Given the description of an element on the screen output the (x, y) to click on. 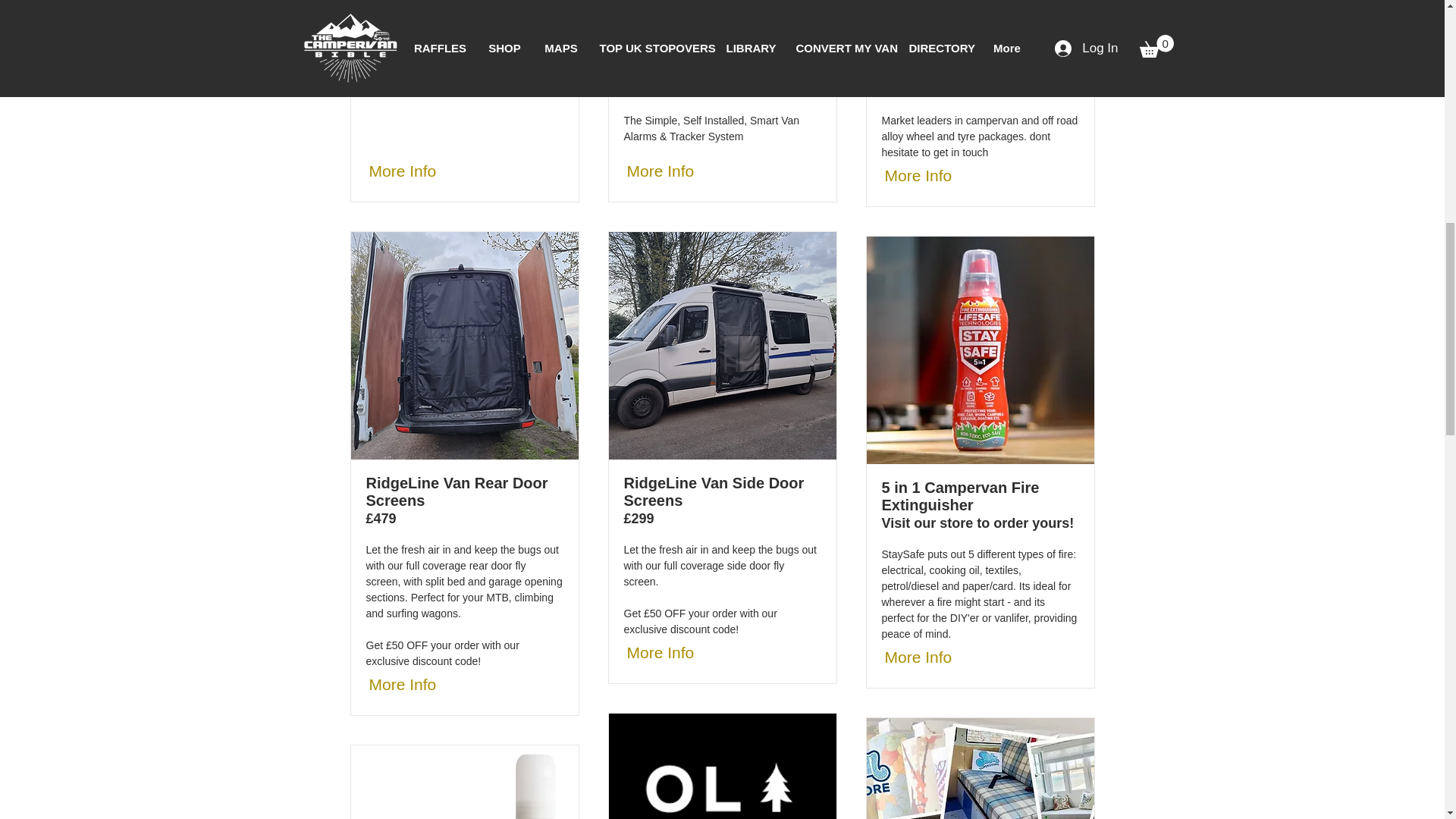
More Info (670, 653)
ROGUE ALLOY CO LOGO black on white.png (979, 15)
1.PNG (464, 345)
More Info (412, 684)
Rb2d28a2ab3b67cee927a9c3e24754f1c.jpg (464, 782)
More Info (670, 171)
LOGO.png (721, 766)
1.PNG (721, 345)
staysafe main image 1120.jpg (979, 350)
